Given the description of an element on the screen output the (x, y) to click on. 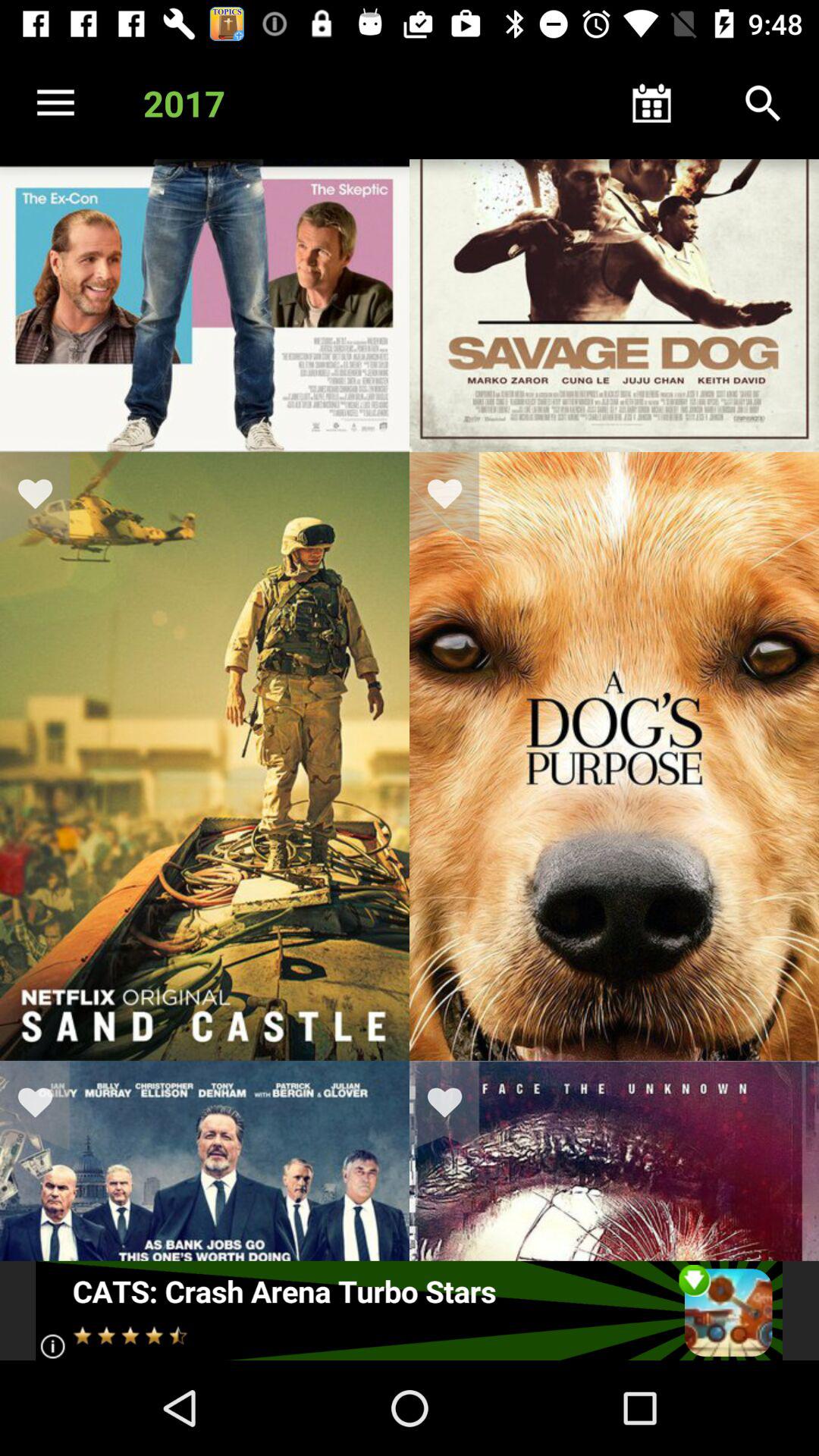
favorites (44, 1105)
